Given the description of an element on the screen output the (x, y) to click on. 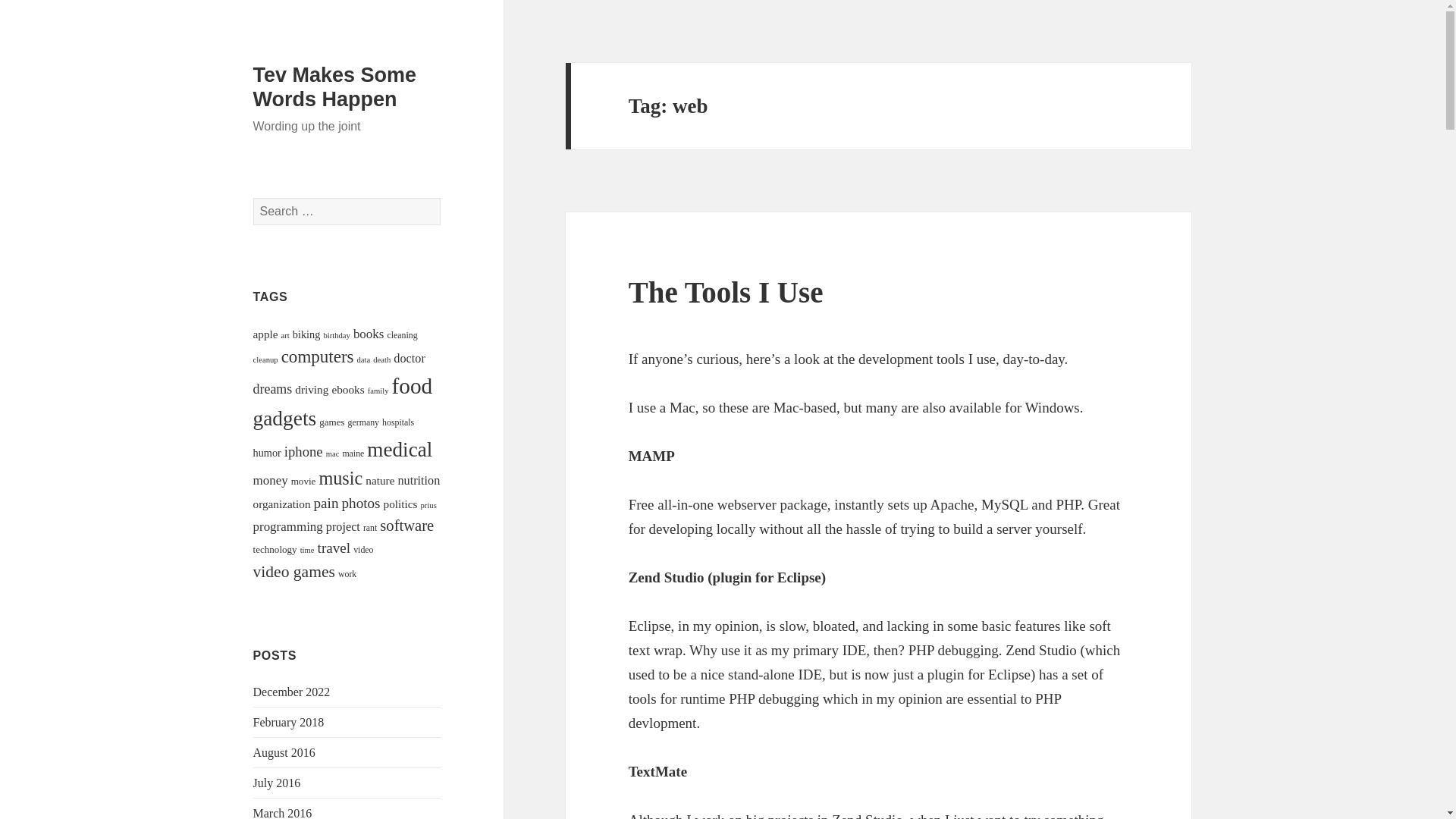
family (378, 390)
nutrition (418, 480)
ebooks (347, 389)
medical (399, 449)
cleaning (401, 335)
driving (312, 389)
art (285, 335)
data (363, 359)
pain (326, 503)
food (411, 385)
maine (353, 452)
doctor (409, 358)
gadgets (285, 418)
iphone (303, 451)
